Given the description of an element on the screen output the (x, y) to click on. 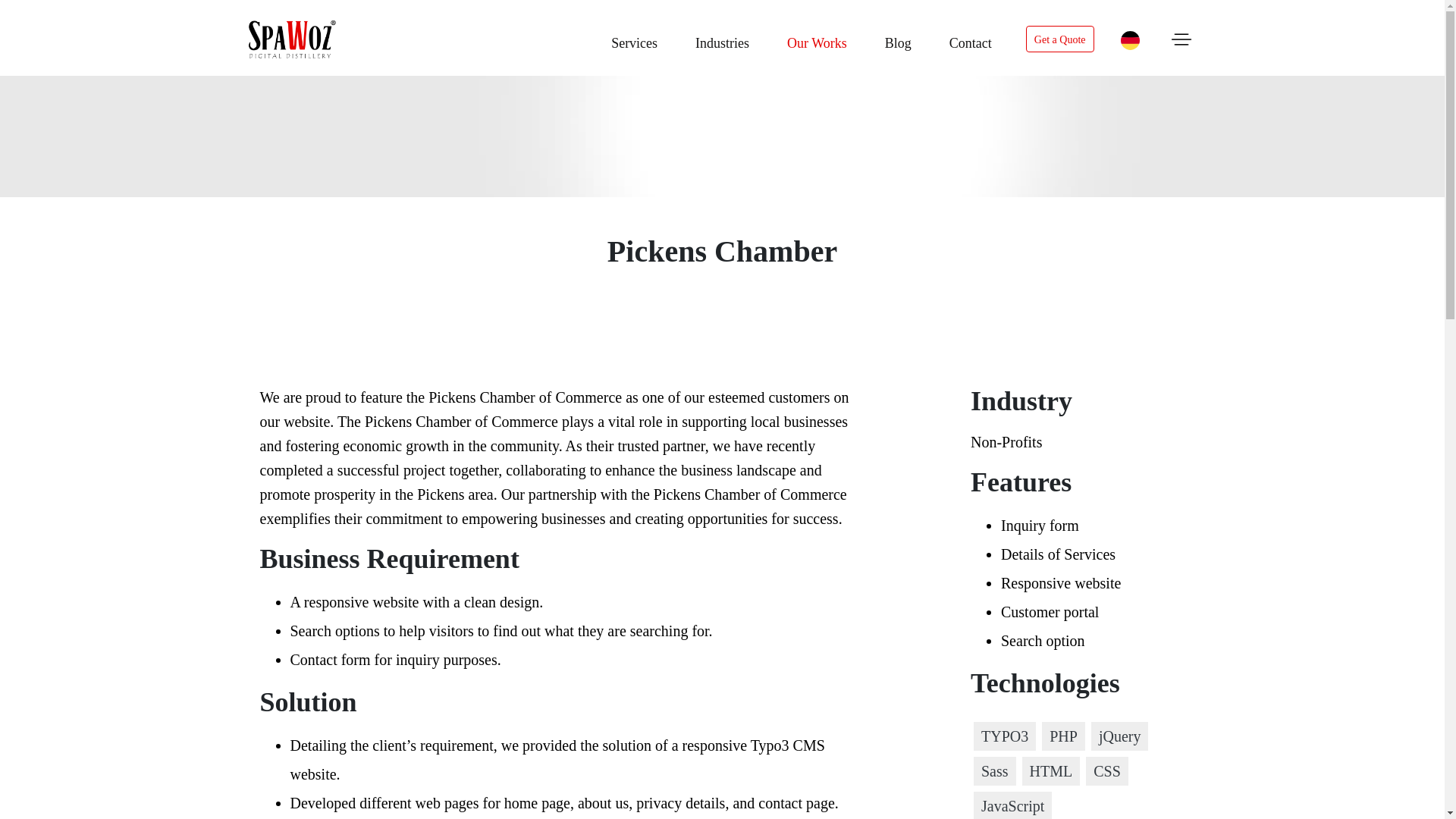
PHP (1063, 736)
Get a Quote (1052, 38)
Blog (898, 38)
Services (634, 38)
Our Works (817, 38)
Blog (898, 38)
HTML (1051, 770)
Industries (722, 38)
Our Works (817, 38)
Contact (970, 38)
